Given the description of an element on the screen output the (x, y) to click on. 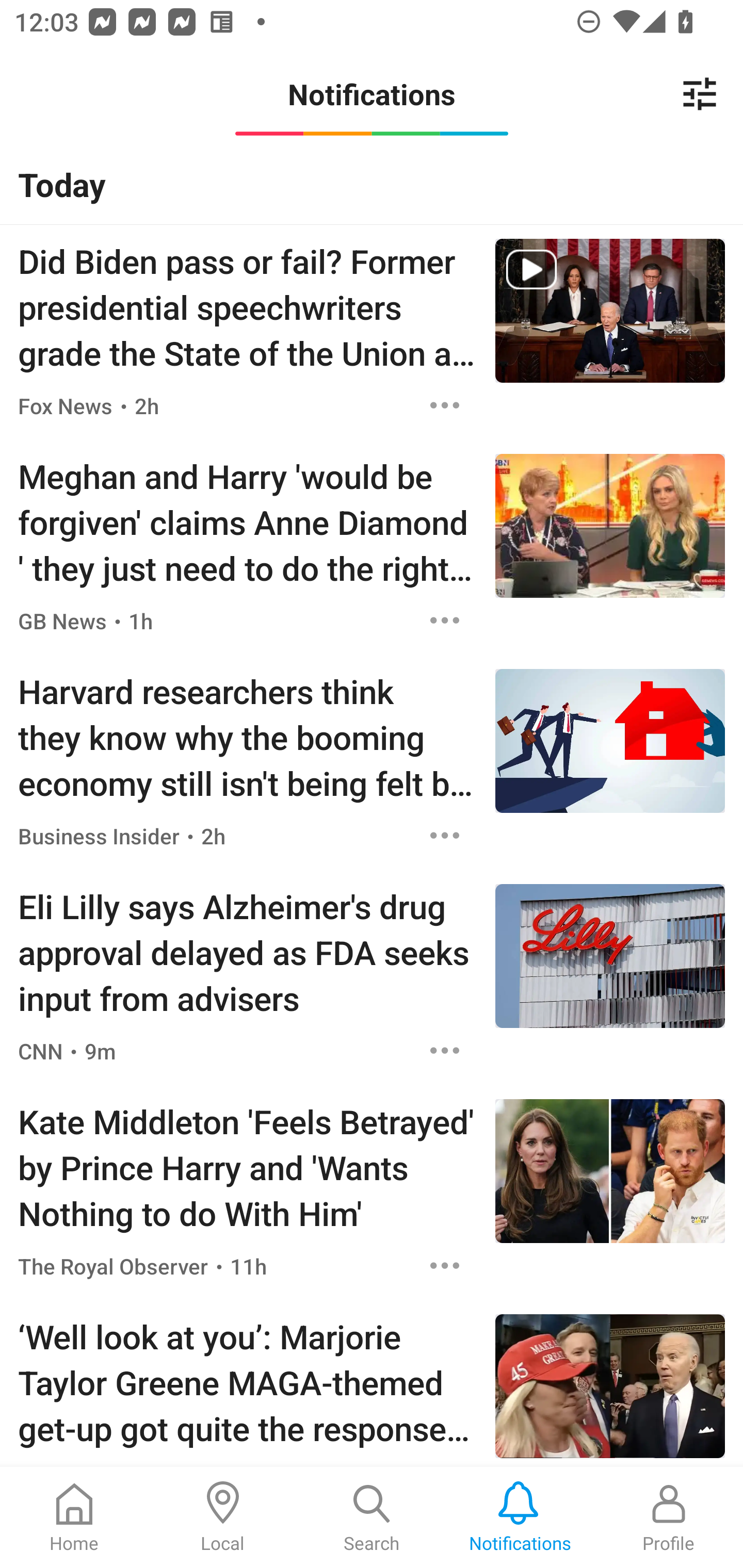
Notification Settings (699, 93)
Today (371, 184)
Options (444, 405)
Options (444, 620)
Options (444, 835)
Options (444, 1050)
Options (444, 1265)
Home (74, 1517)
Local (222, 1517)
Search (371, 1517)
Profile (668, 1517)
